Given the description of an element on the screen output the (x, y) to click on. 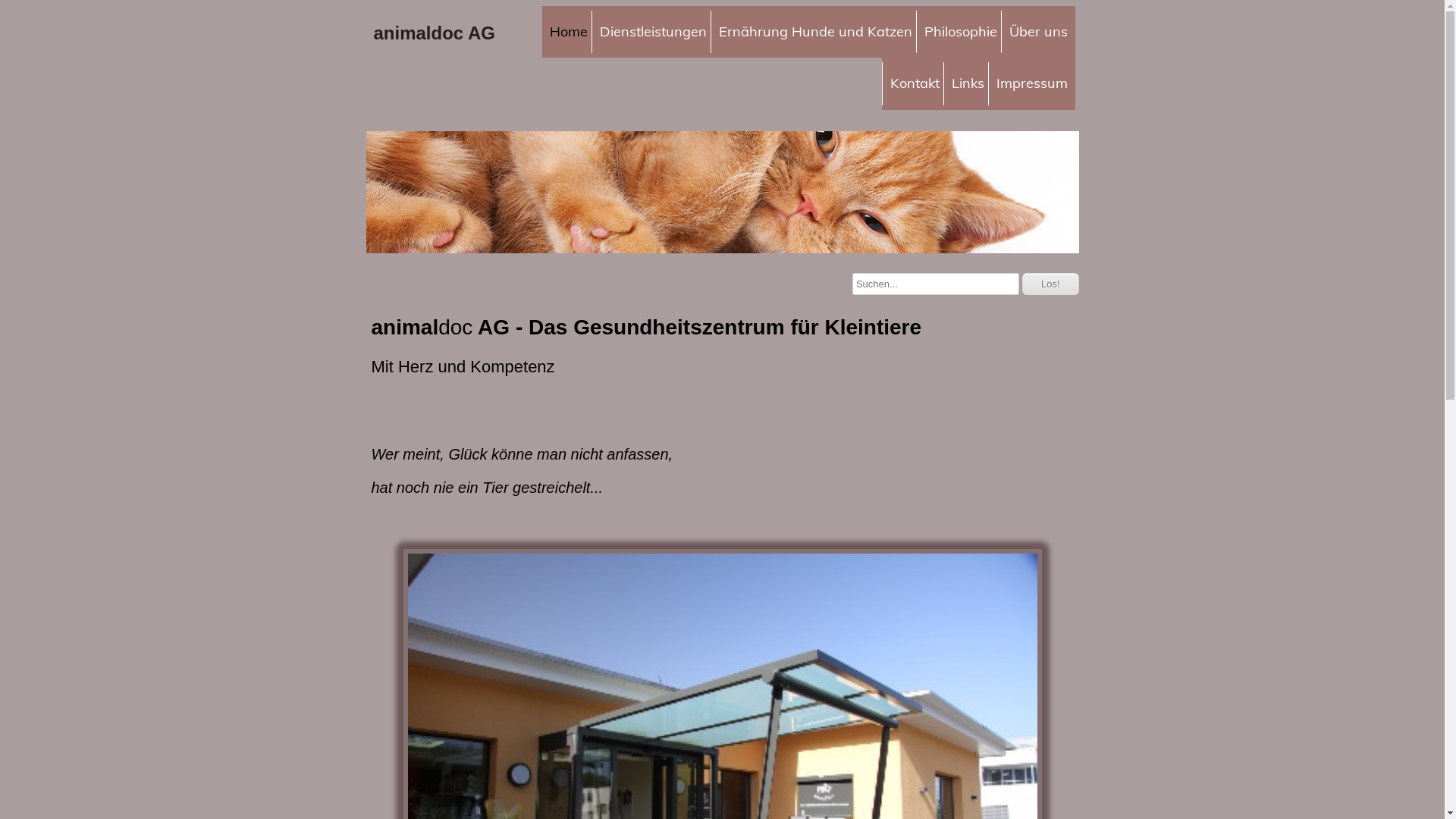
Philosophie Element type: text (960, 31)
Home Element type: text (567, 31)
Los! Element type: text (1050, 283)
Impressum Element type: text (1030, 83)
animaldoc AG Element type: text (456, 27)
Dienstleistungen Element type: text (652, 31)
Links Element type: text (967, 83)
Kontakt Element type: text (913, 83)
